Given the description of an element on the screen output the (x, y) to click on. 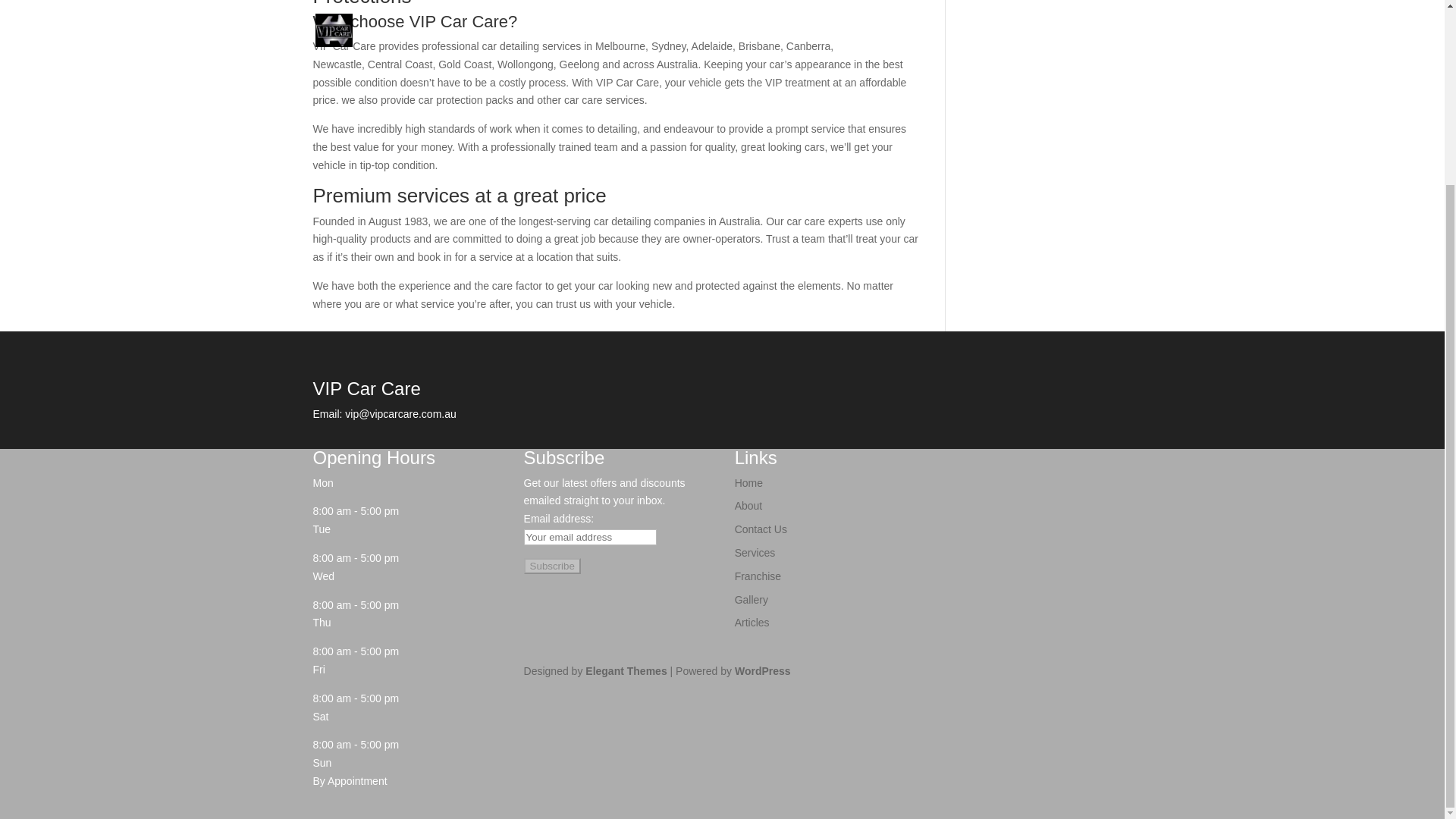
Subscribe (552, 565)
WordPress (762, 671)
About (748, 505)
Franchise (757, 576)
Subscribe (552, 565)
Home (748, 482)
Services (755, 552)
Elegant Themes (625, 671)
Articles (752, 622)
Contact Us (761, 529)
Gallery (751, 599)
Premium WordPress Themes (625, 671)
